Given the description of an element on the screen output the (x, y) to click on. 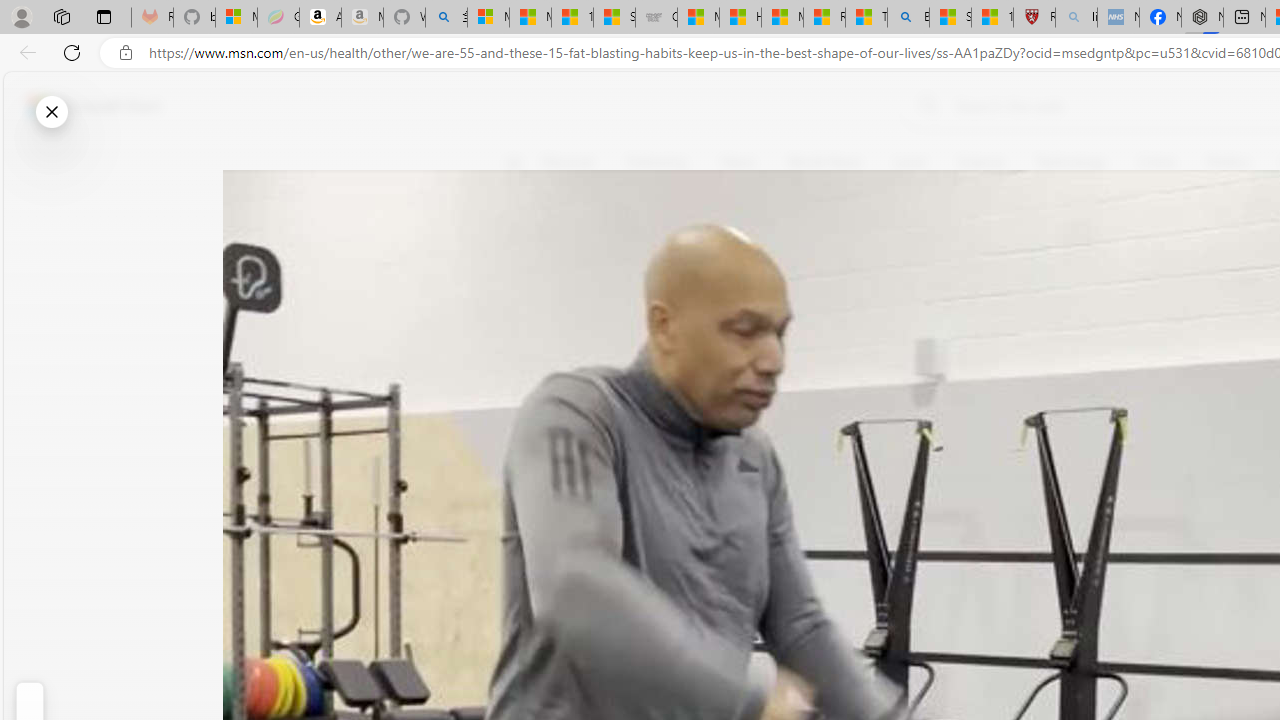
Start the conversation (525, 356)
Web search (924, 105)
Science (980, 162)
Bing (908, 17)
Class: at-item (525, 468)
Body Network (788, 259)
Crime (1156, 162)
Microsoft Start (781, 17)
How I Got Rid of Microsoft Edge's Unnecessary Features (740, 17)
Crime (1156, 162)
